Given the description of an element on the screen output the (x, y) to click on. 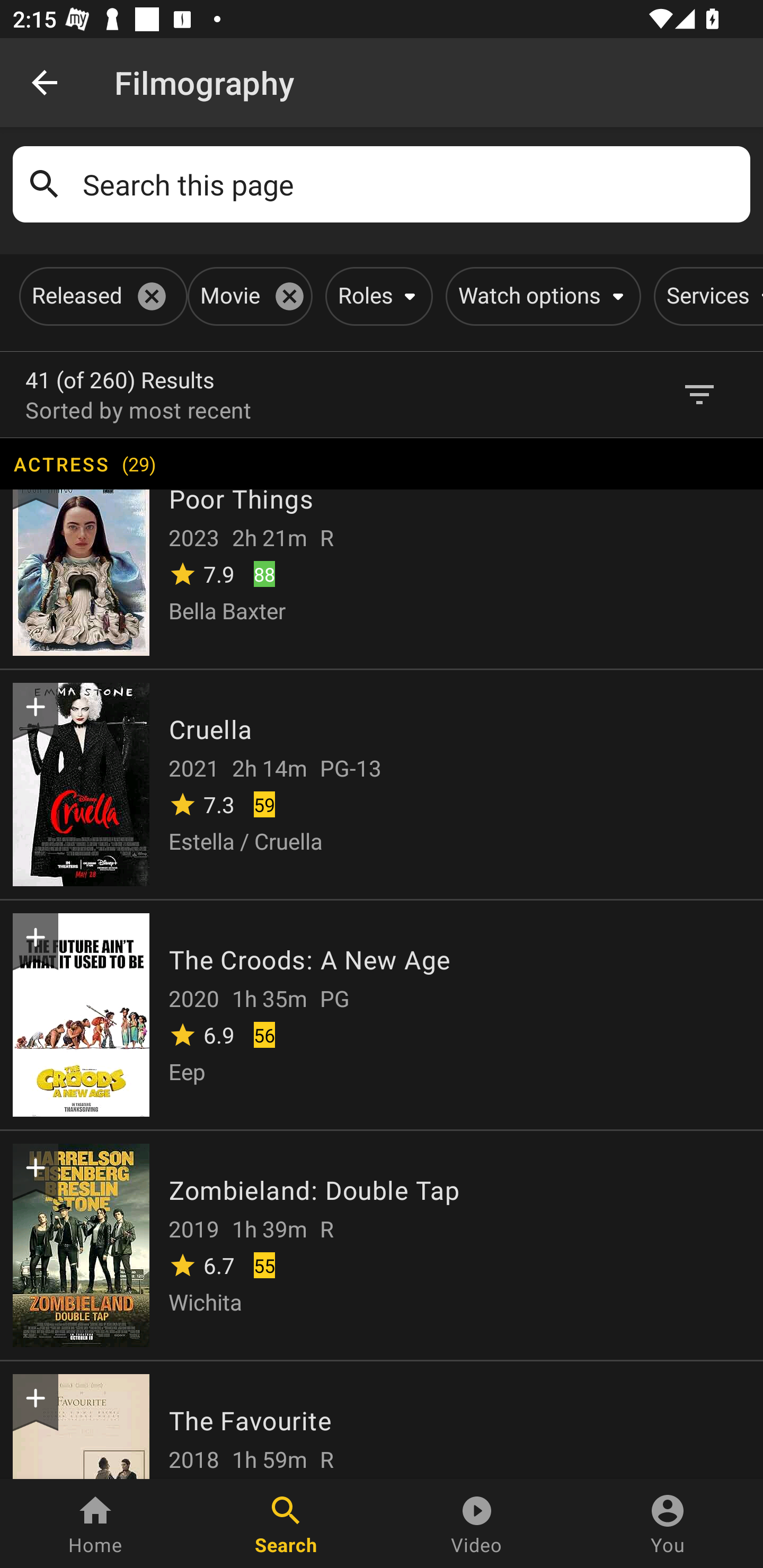
Search this page (410, 184)
Released (100, 296)
Movie (246, 296)
Roles (375, 296)
Watch options (539, 296)
Services (708, 296)
Poor Things 2023 2h 21m R 7.9 88 Bella Baxter (381, 552)
Cruella 2021 2h 14m PG-13 7.3 59 Estella / Cruella (381, 782)
The Croods: A New Age 2020 1h 35m PG 6.9 56 Eep (381, 1013)
The Favourite 2018 1h 59m R (381, 1418)
Home (95, 1523)
Video (476, 1523)
You (667, 1523)
